Given the description of an element on the screen output the (x, y) to click on. 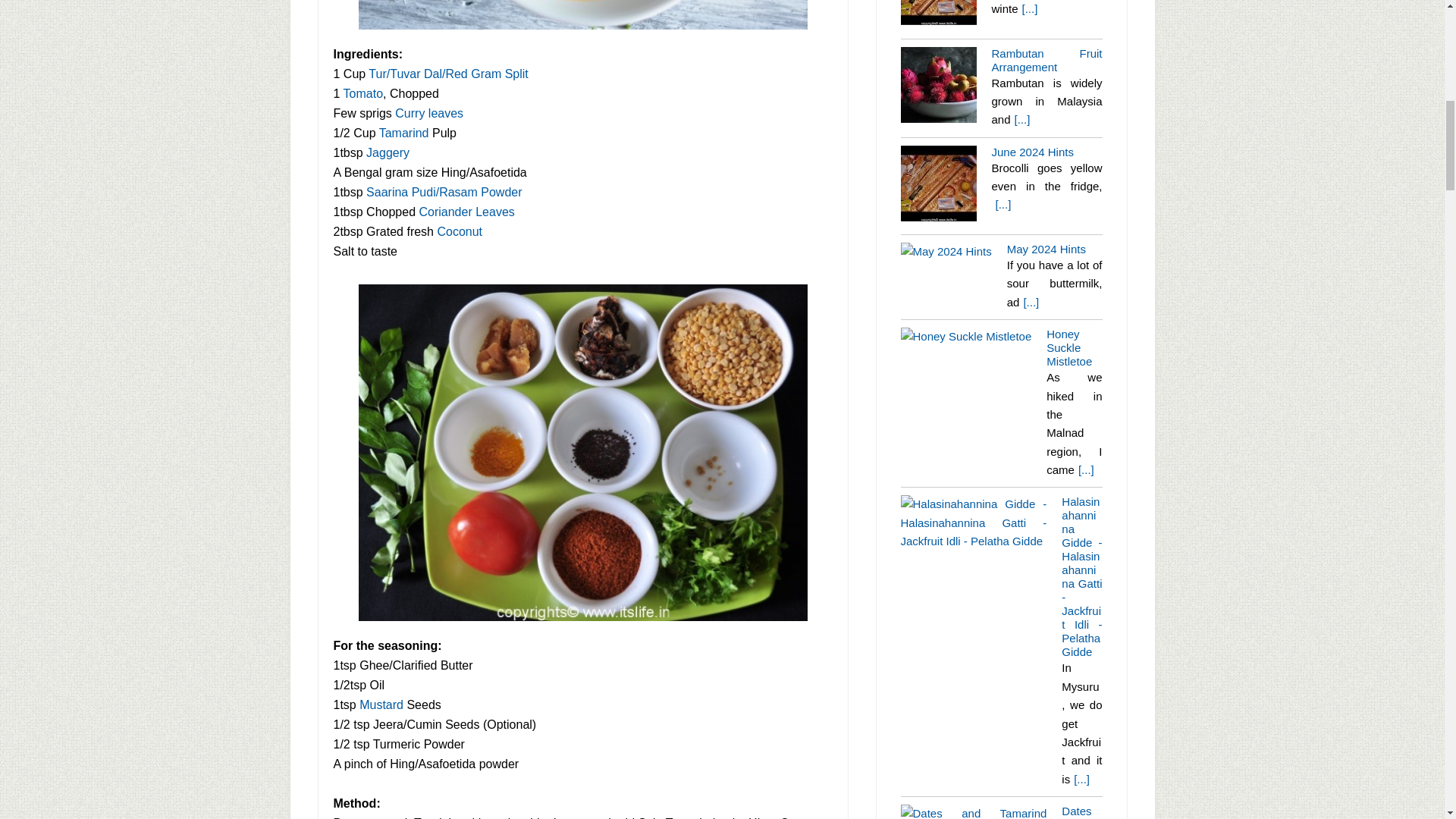
Recipe for Saarina Pudi (443, 191)
Jaggery (387, 151)
Tomato (362, 92)
Mustard (381, 703)
Curry leaves (428, 112)
Coriander Leaves (466, 210)
Tamarind (403, 132)
Coconut (458, 230)
Saaru Recipe (582, 15)
